Given the description of an element on the screen output the (x, y) to click on. 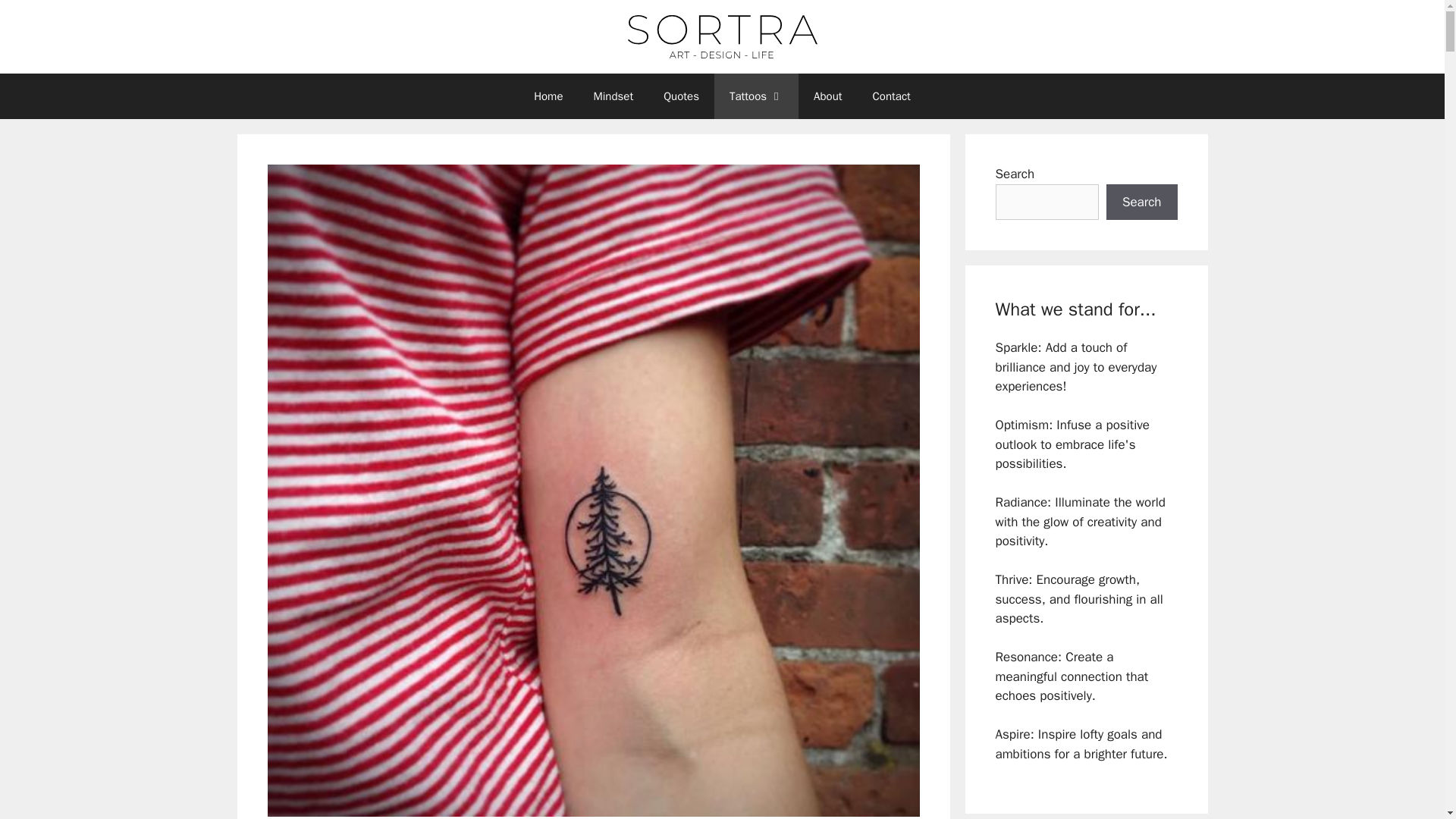
Search (1141, 202)
Mindset (612, 95)
Contact (891, 95)
About (827, 95)
Home (548, 95)
Quotes (680, 95)
Tattoos (755, 95)
